Given the description of an element on the screen output the (x, y) to click on. 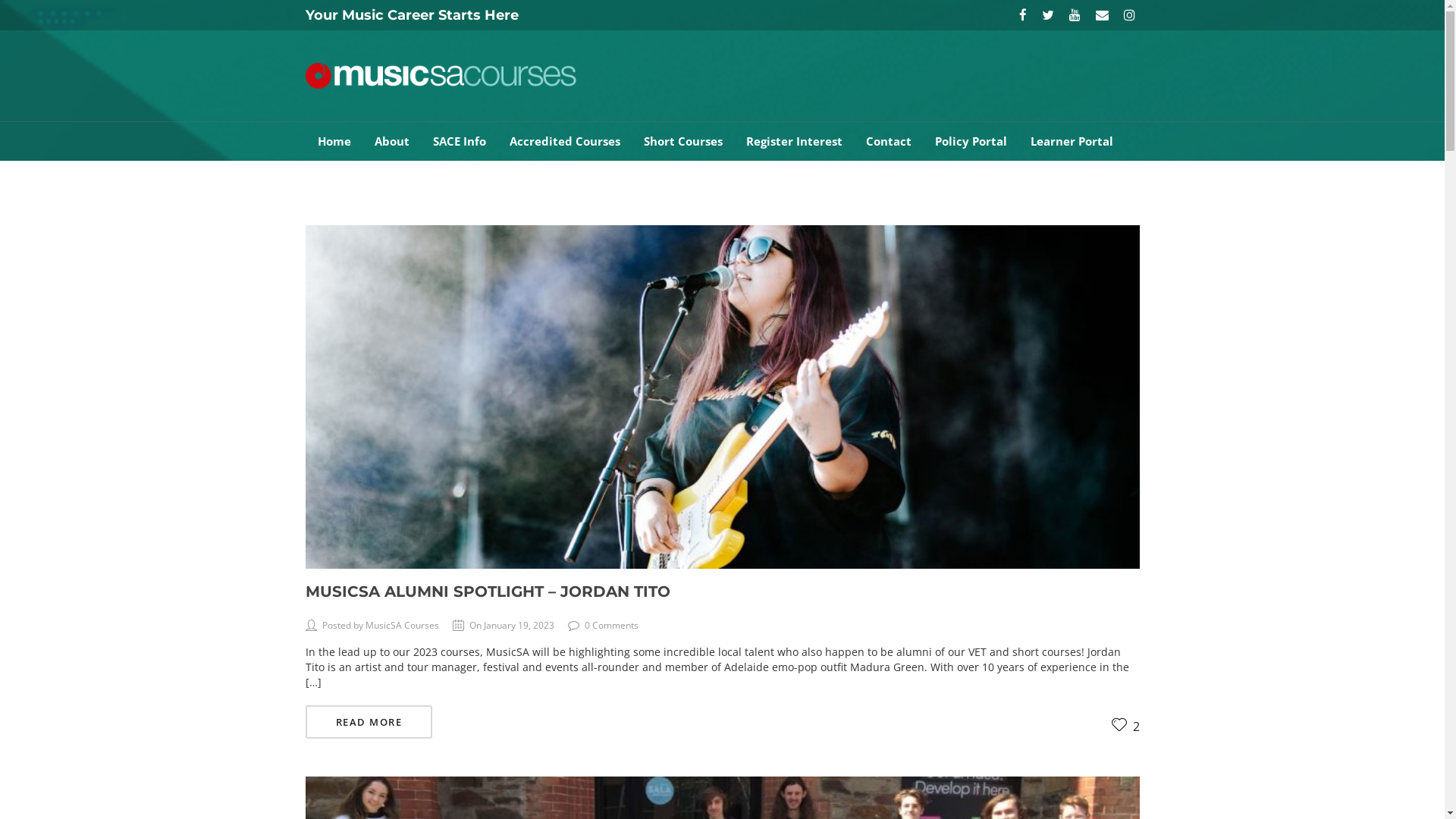
About Element type: text (391, 141)
READ MORE Element type: text (368, 721)
Accredited Courses Element type: text (564, 141)
SACE Info Element type: text (458, 141)
 2 Element type: text (1125, 726)
Short Courses Element type: text (682, 141)
Register Interest Element type: text (794, 141)
Contact Element type: text (888, 141)
Learner Portal Element type: text (1070, 141)
Home Element type: text (333, 141)
Policy Portal Element type: text (970, 141)
